Given the description of an element on the screen output the (x, y) to click on. 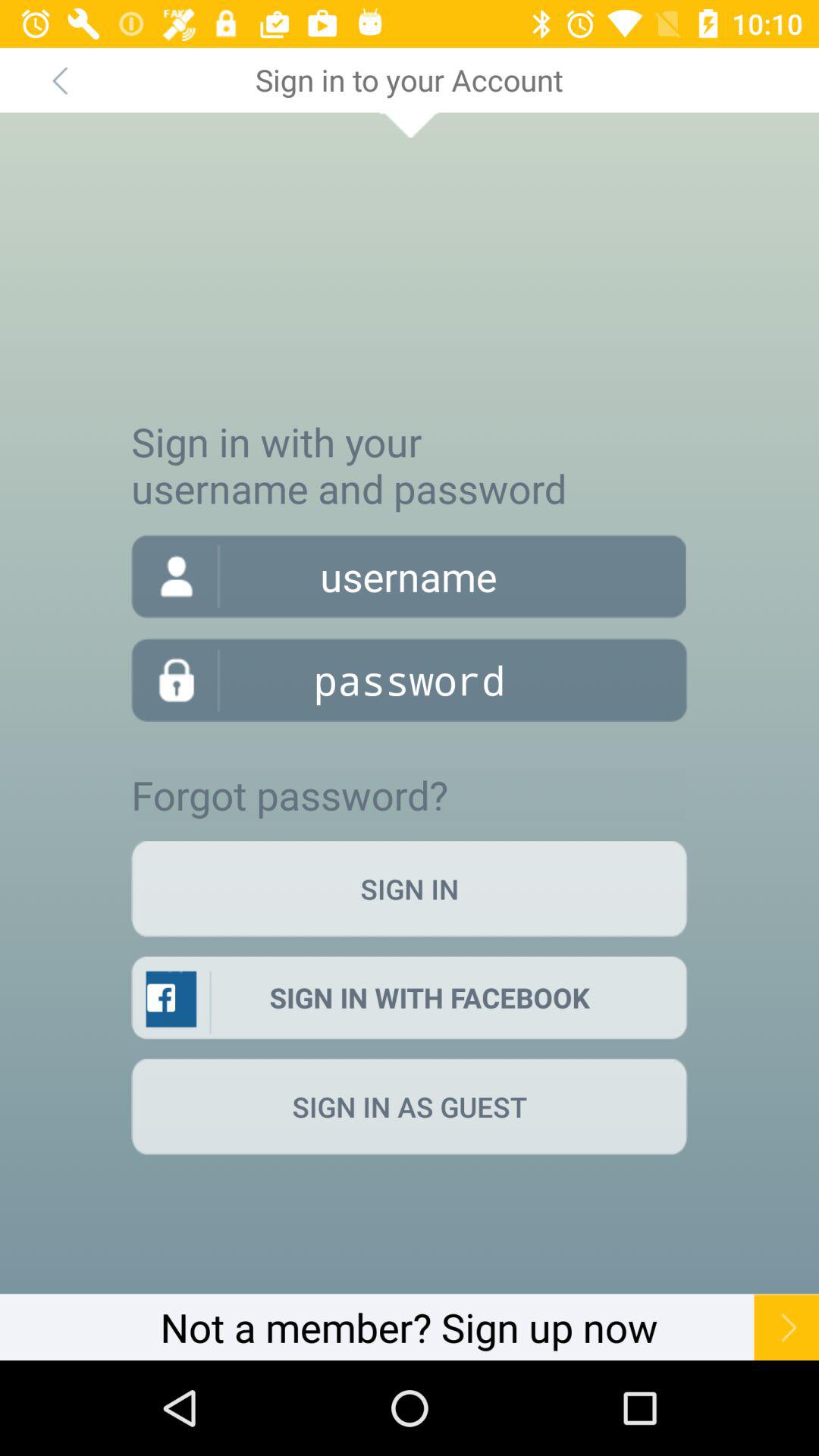
password typing option (409, 679)
